Given the description of an element on the screen output the (x, y) to click on. 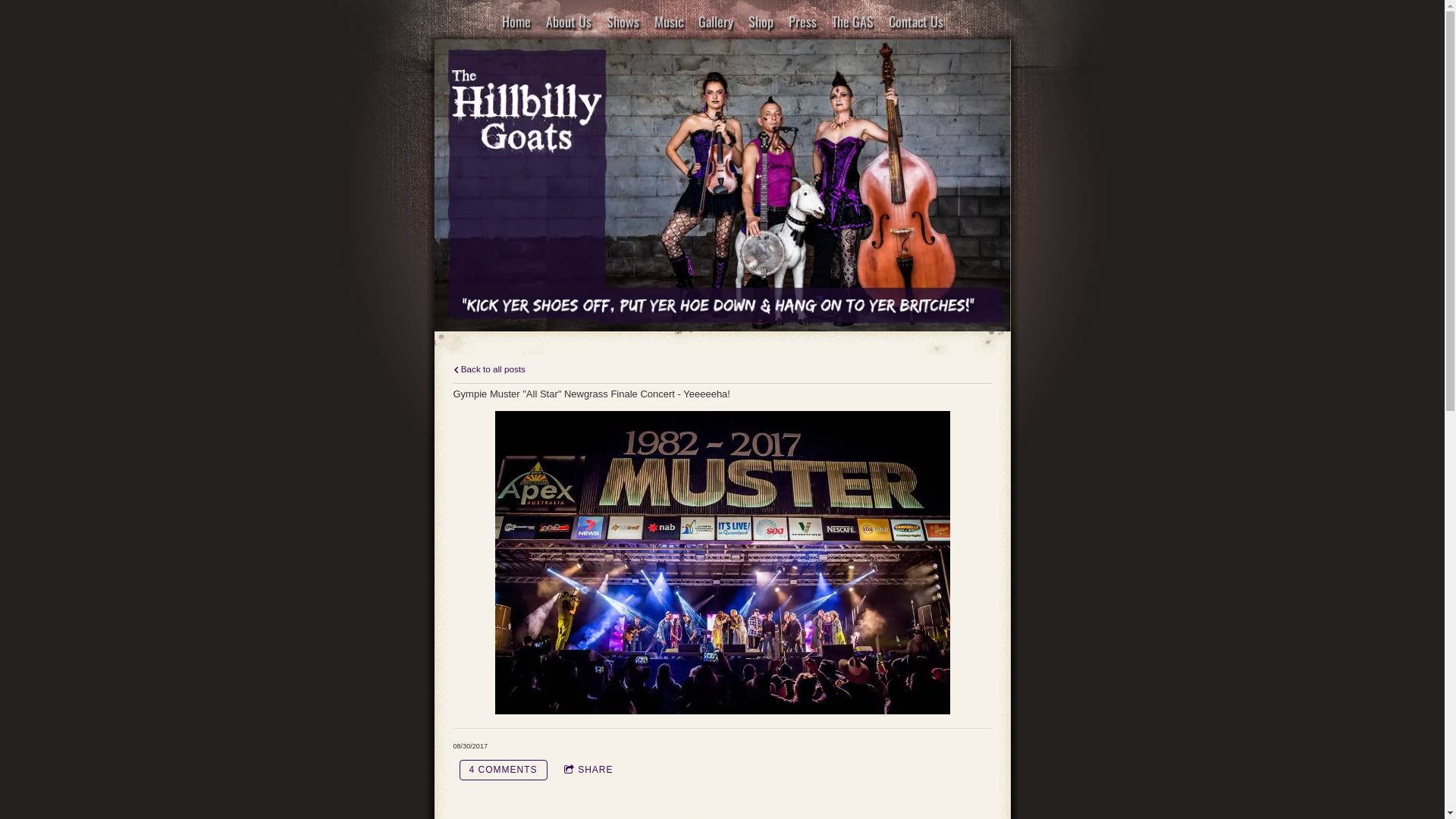
Press Element type: text (801, 21)
Gallery Element type: text (715, 21)
Music Element type: text (668, 21)
Home Element type: text (515, 21)
Shop Element type: text (760, 21)
SHARE Element type: text (588, 769)
Back to all posts Element type: text (489, 368)
Contact Us Element type: text (915, 21)
Shows Element type: text (622, 21)
The GAS Element type: text (852, 21)
About Us Element type: text (567, 21)
4 COMMENTS Element type: text (503, 769)
